Given the description of an element on the screen output the (x, y) to click on. 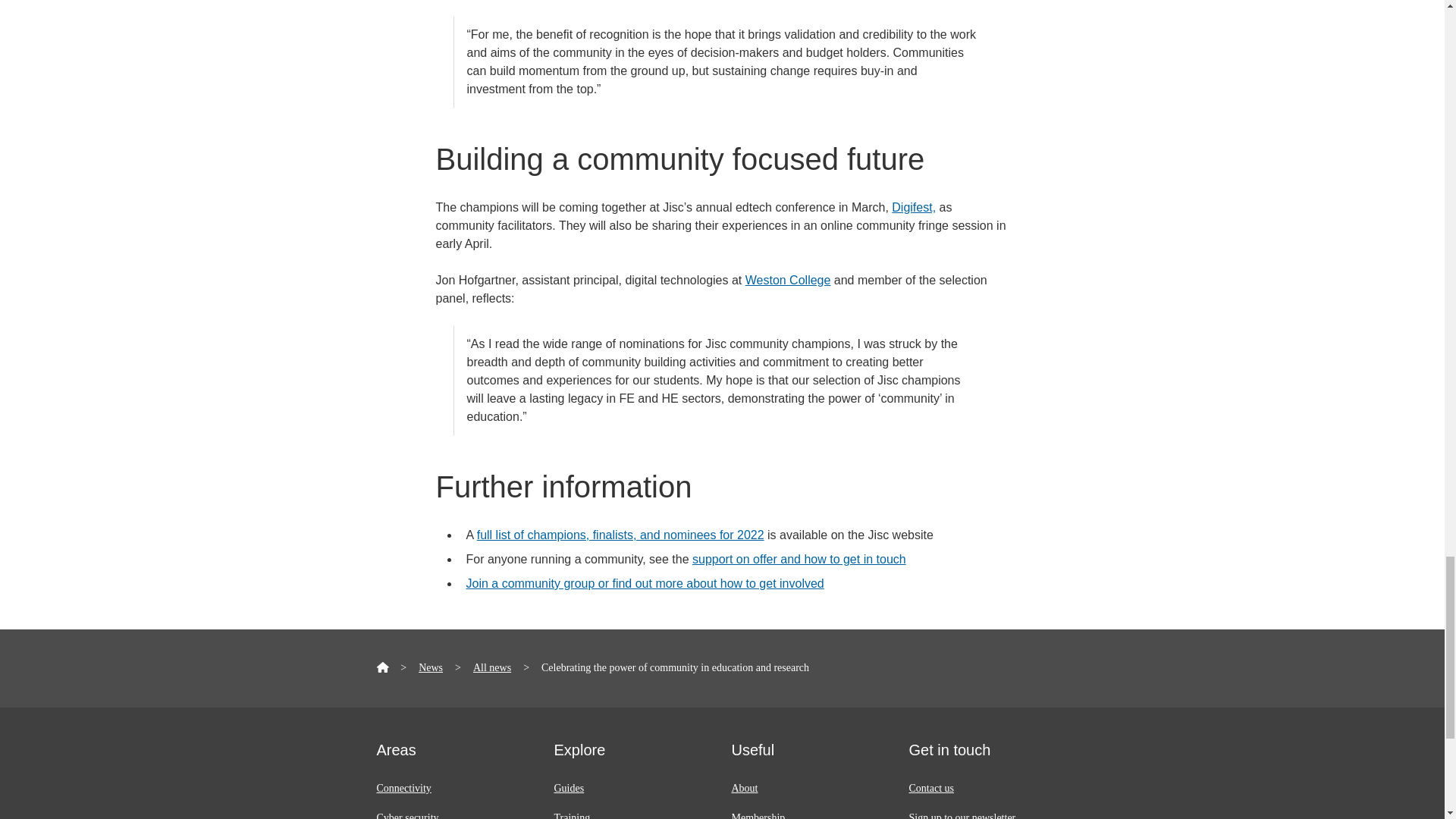
support on offer and how to get in touch (799, 558)
Jisc homepage (381, 667)
Digifest, (913, 206)
Training (571, 815)
All news (492, 667)
News (430, 667)
About (743, 787)
Membership (757, 815)
Guides (568, 787)
